Given the description of an element on the screen output the (x, y) to click on. 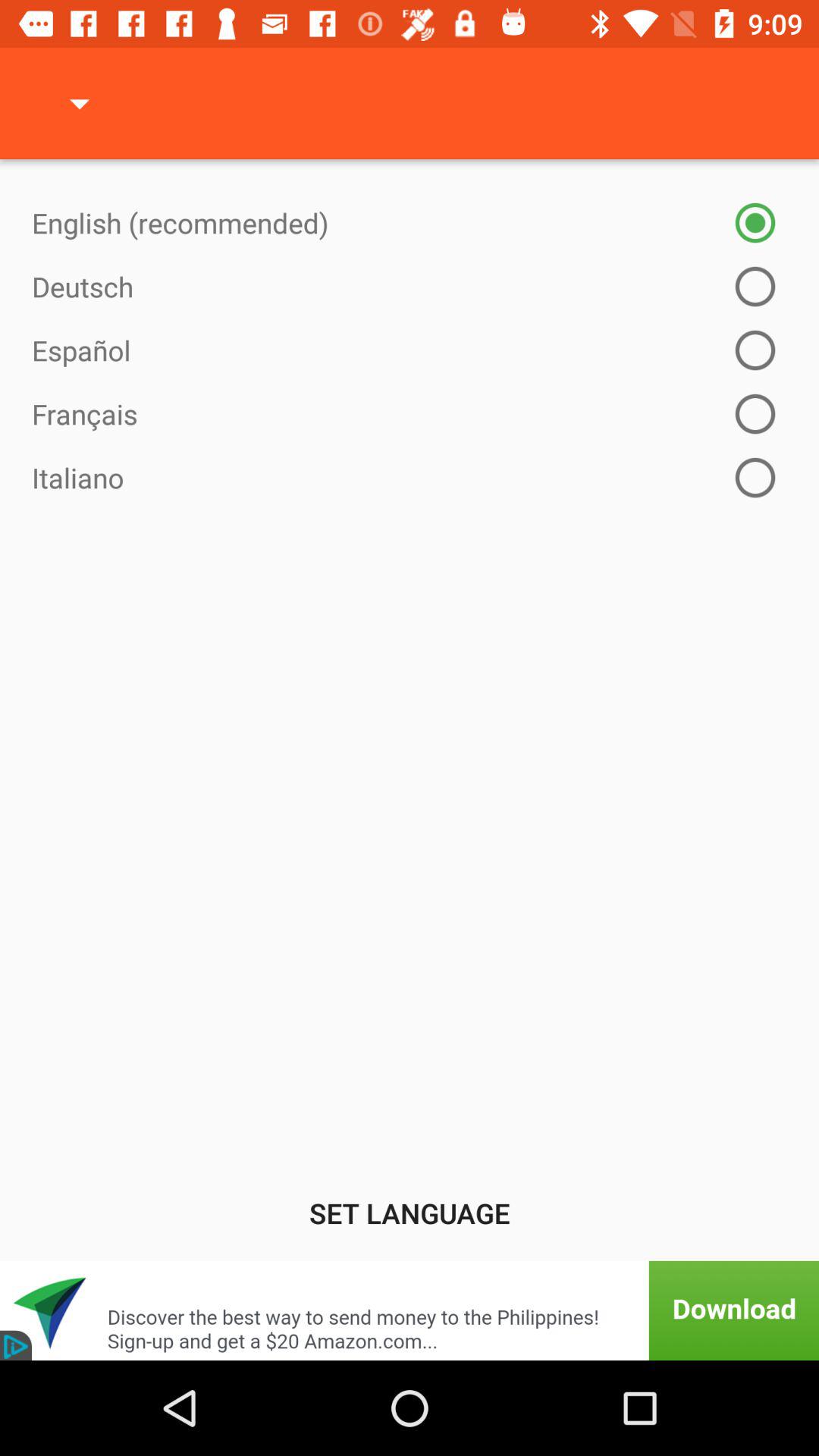
click on advertisement (409, 1310)
